Given the description of an element on the screen output the (x, y) to click on. 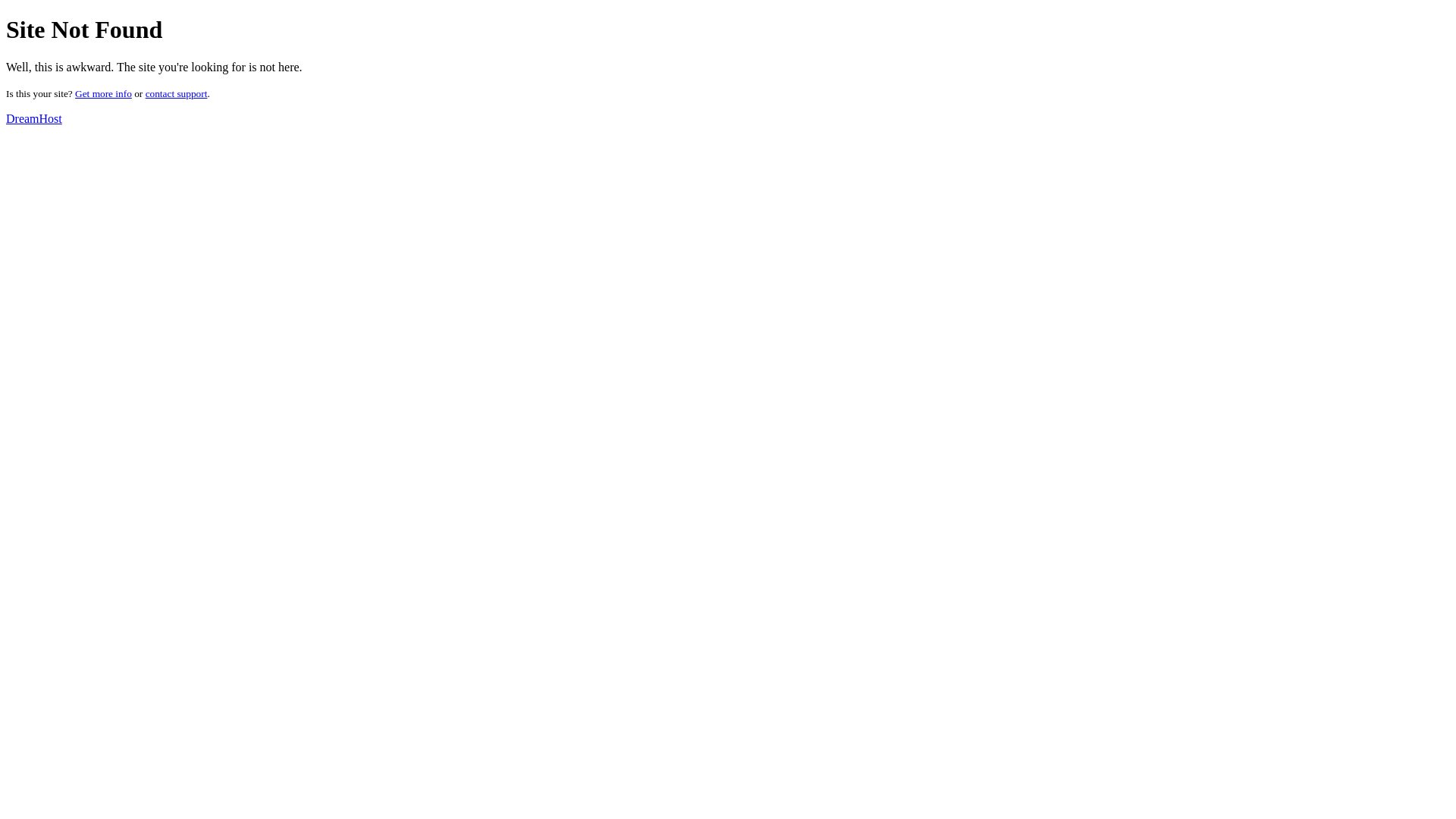
Get more info Element type: text (103, 93)
contact support Element type: text (176, 93)
DreamHost Element type: text (34, 118)
